Given the description of an element on the screen output the (x, y) to click on. 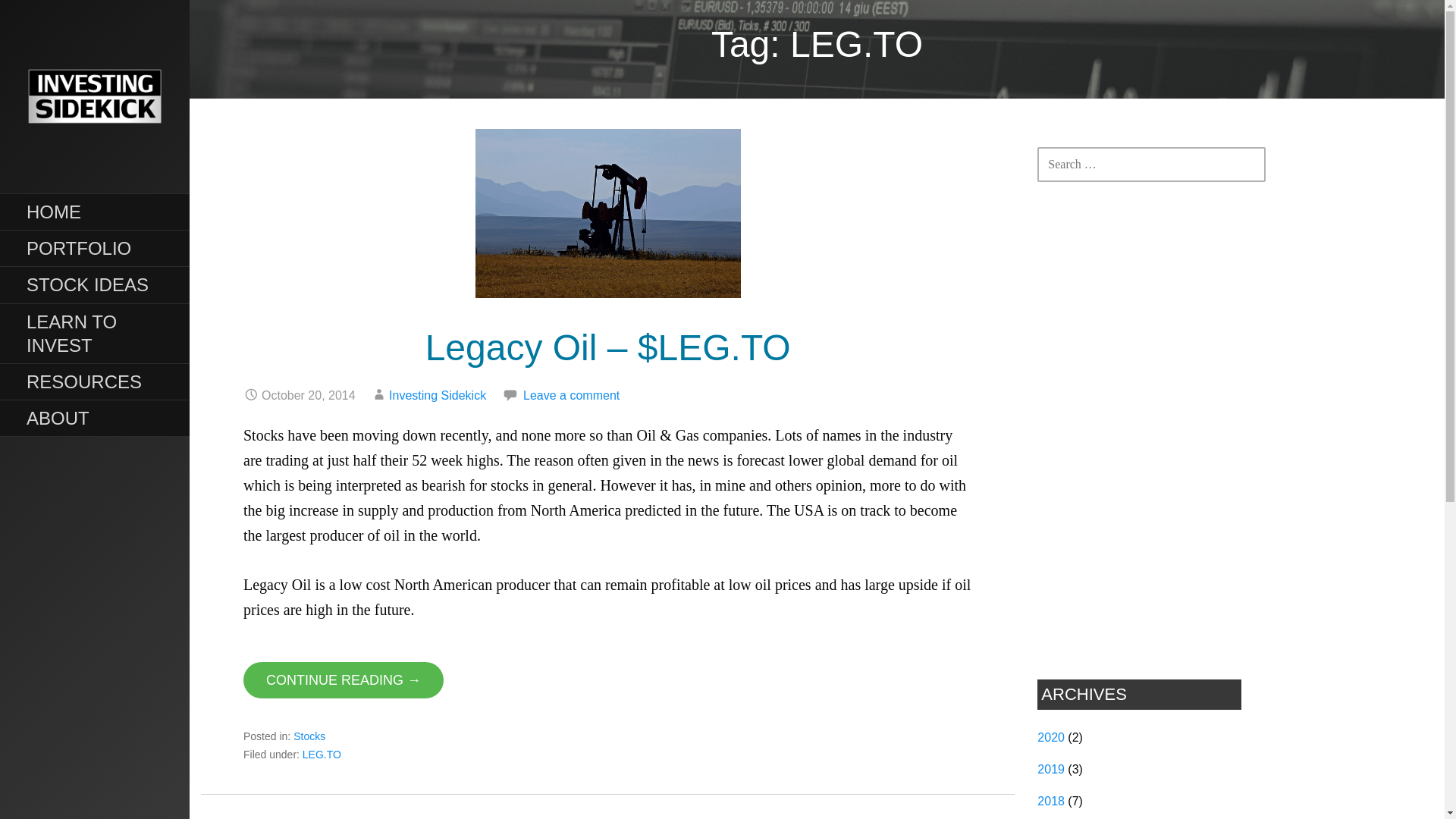
2018 (1050, 800)
LEARN TO INVEST (94, 333)
Portfolio (94, 248)
Leave a comment (571, 395)
Stocks (309, 736)
INVESTING SIDEKICK (108, 192)
2020 (1050, 737)
Search (50, 18)
HOME (94, 212)
LEG.TO (321, 754)
